Given the description of an element on the screen output the (x, y) to click on. 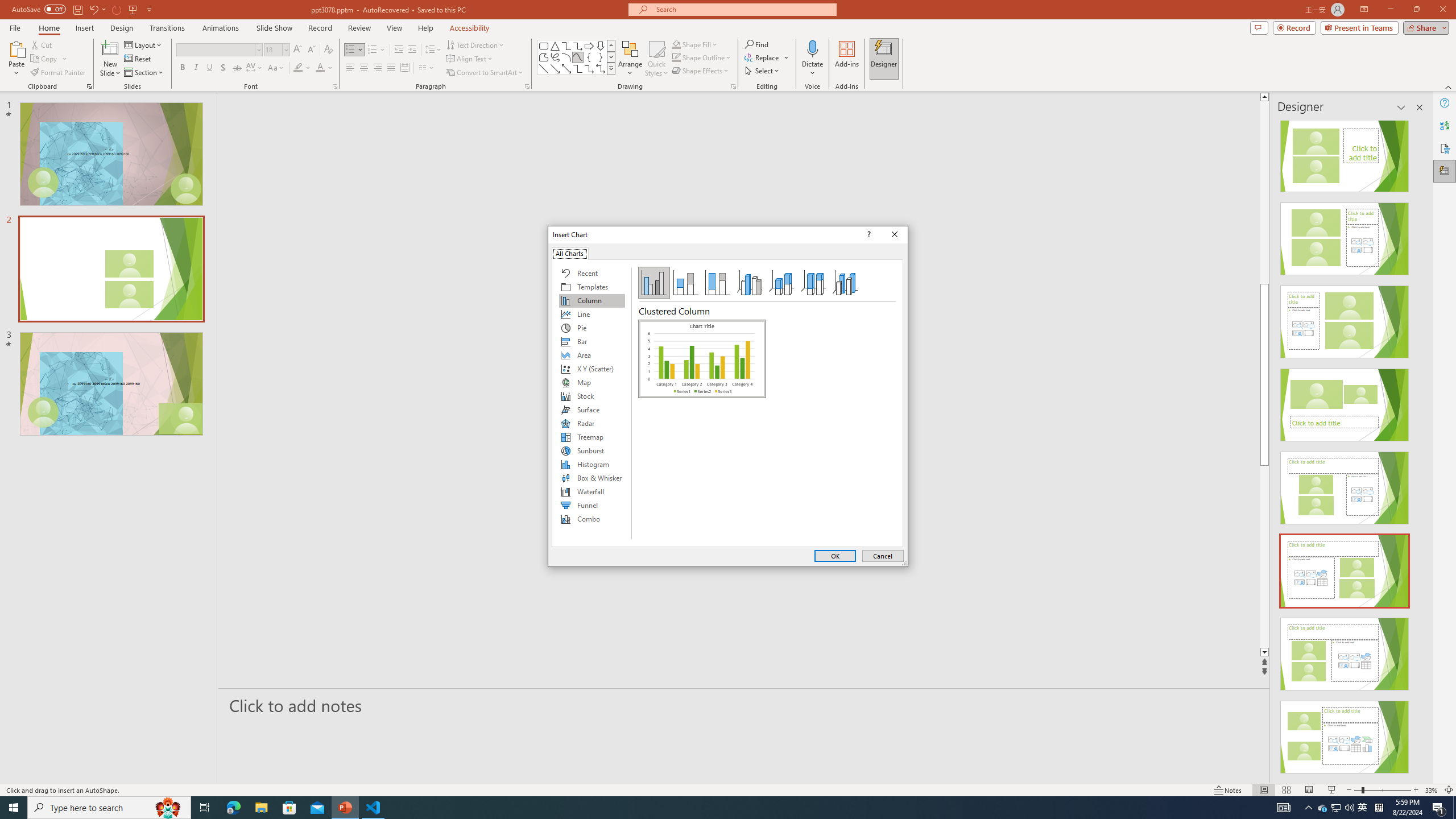
3-D Stacked Column (781, 282)
Zoom 33% (1431, 790)
Surface (591, 409)
